Given the description of an element on the screen output the (x, y) to click on. 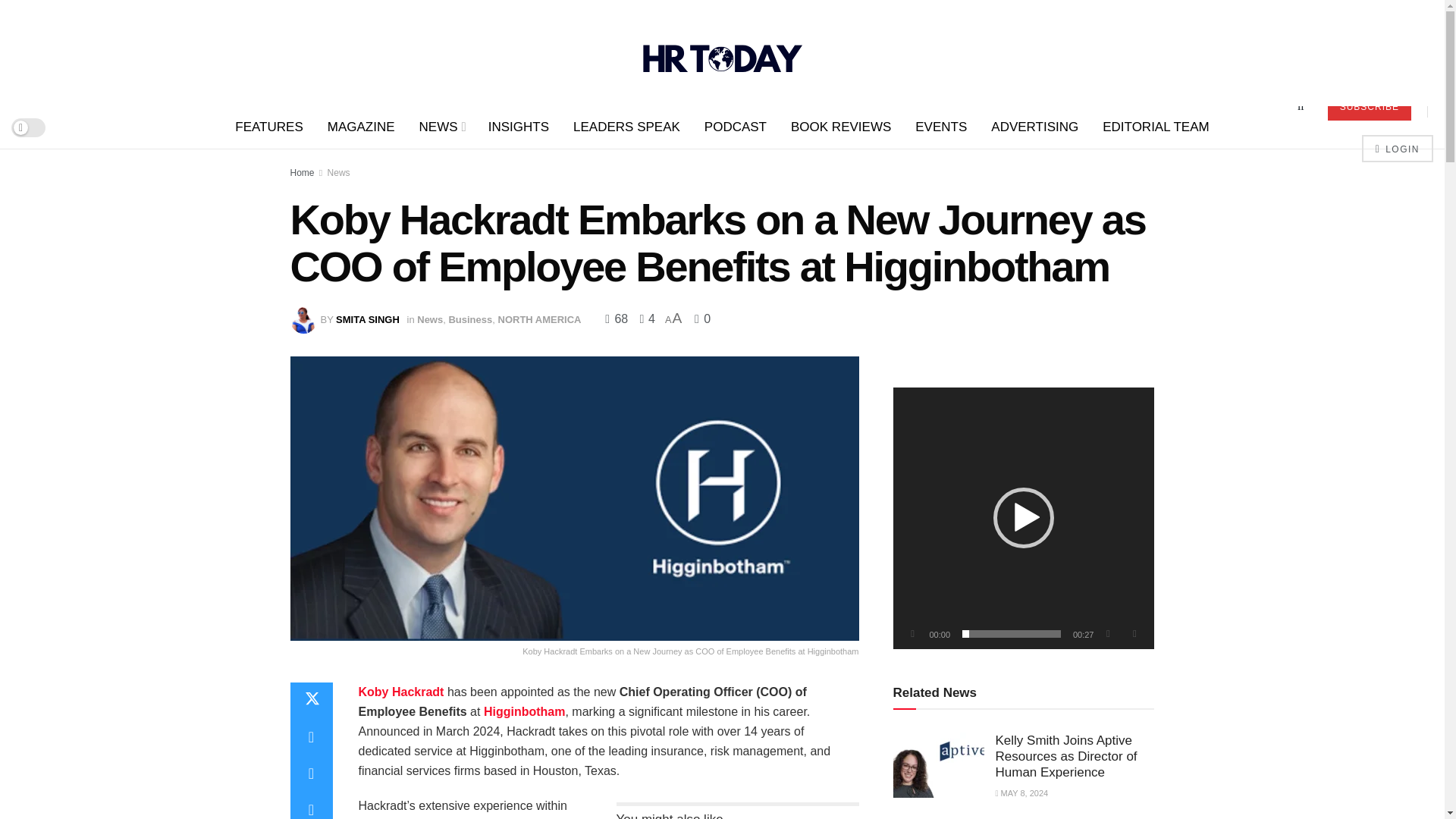
LEADERS SPEAK (626, 127)
MAGAZINE (361, 127)
Mute (1107, 633)
Fullscreen (1133, 633)
BOOK REVIEWS (840, 127)
Play (912, 633)
LOGIN (1396, 148)
ADVERTISING (1034, 127)
EDITORIAL TEAM (1155, 127)
INSIGHTS (518, 127)
